Given the description of an element on the screen output the (x, y) to click on. 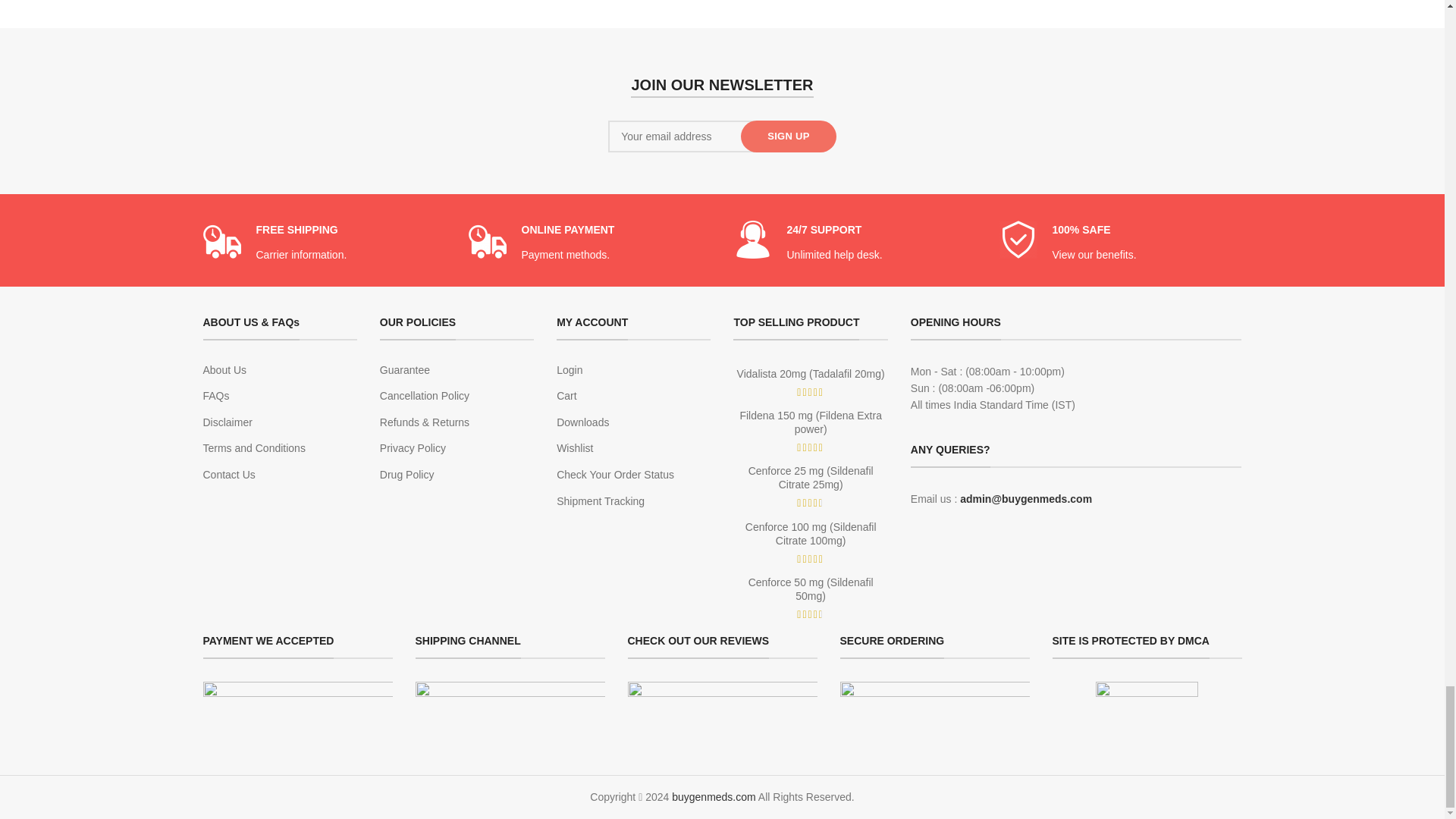
Sign up (788, 136)
